Given the description of an element on the screen output the (x, y) to click on. 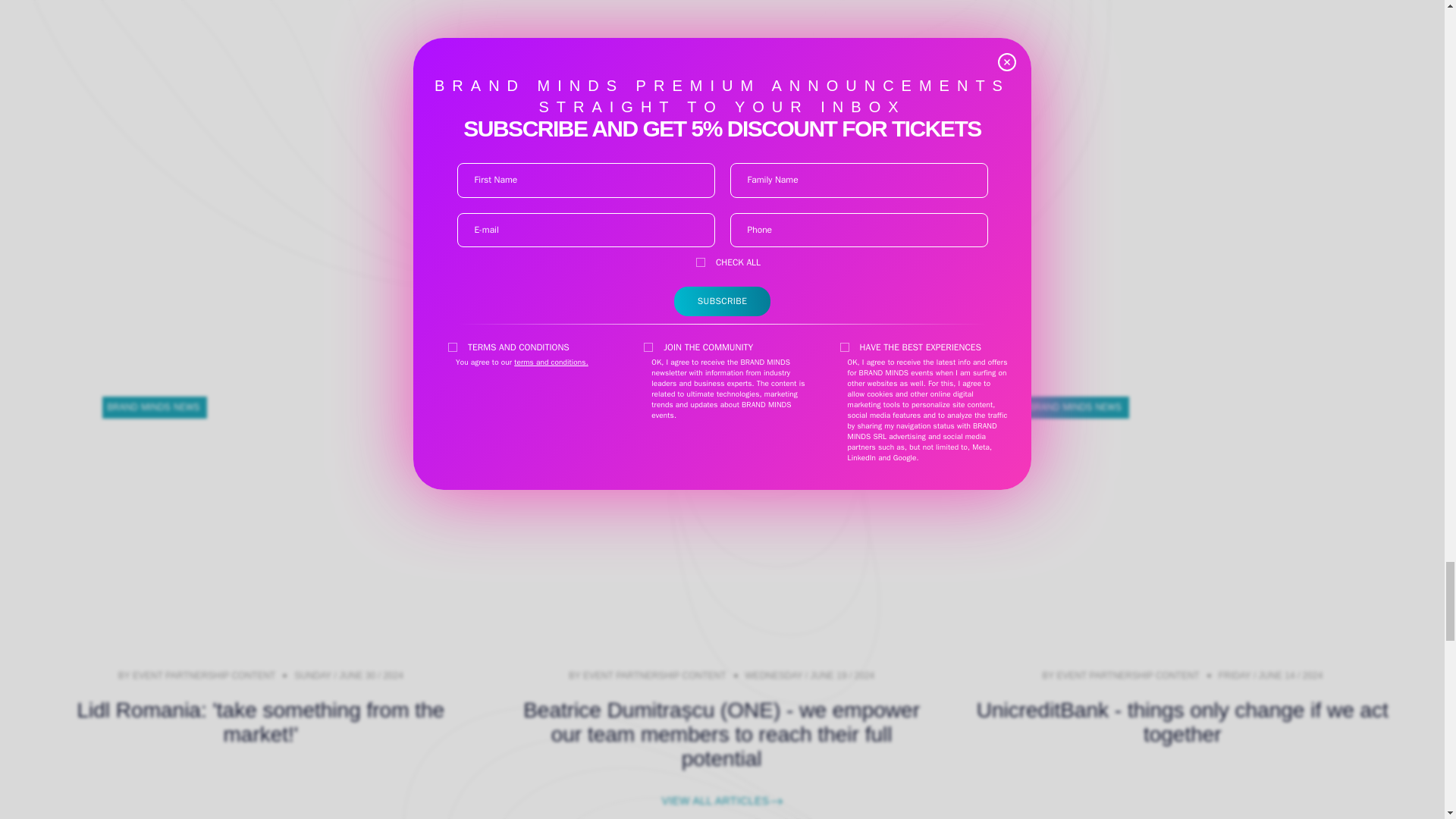
Lidl Romania: 'take something from the market!' (261, 722)
UnicreditBank - things only change if we act together (1182, 722)
VIEW ALL ARTICLES (721, 800)
